Given the description of an element on the screen output the (x, y) to click on. 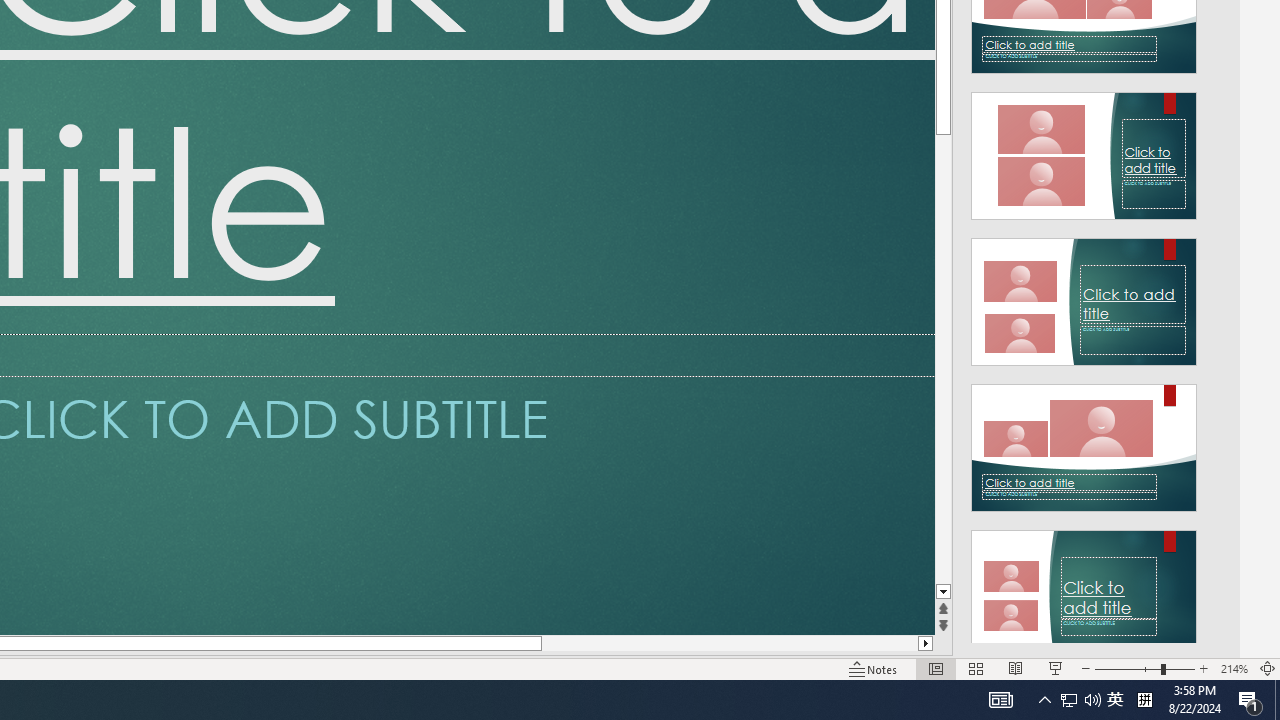
Notes  (874, 668)
Zoom 214% (1234, 668)
Normal (936, 668)
Zoom Out (1127, 668)
Zoom (1144, 668)
Line down (943, 592)
Zoom to Fit  (1267, 668)
Design Idea (1083, 587)
Zoom In (1204, 668)
Slide Sorter (975, 668)
Class: NetUIImage (1083, 593)
Reading View (1015, 668)
Page down (943, 359)
